Given the description of an element on the screen output the (x, y) to click on. 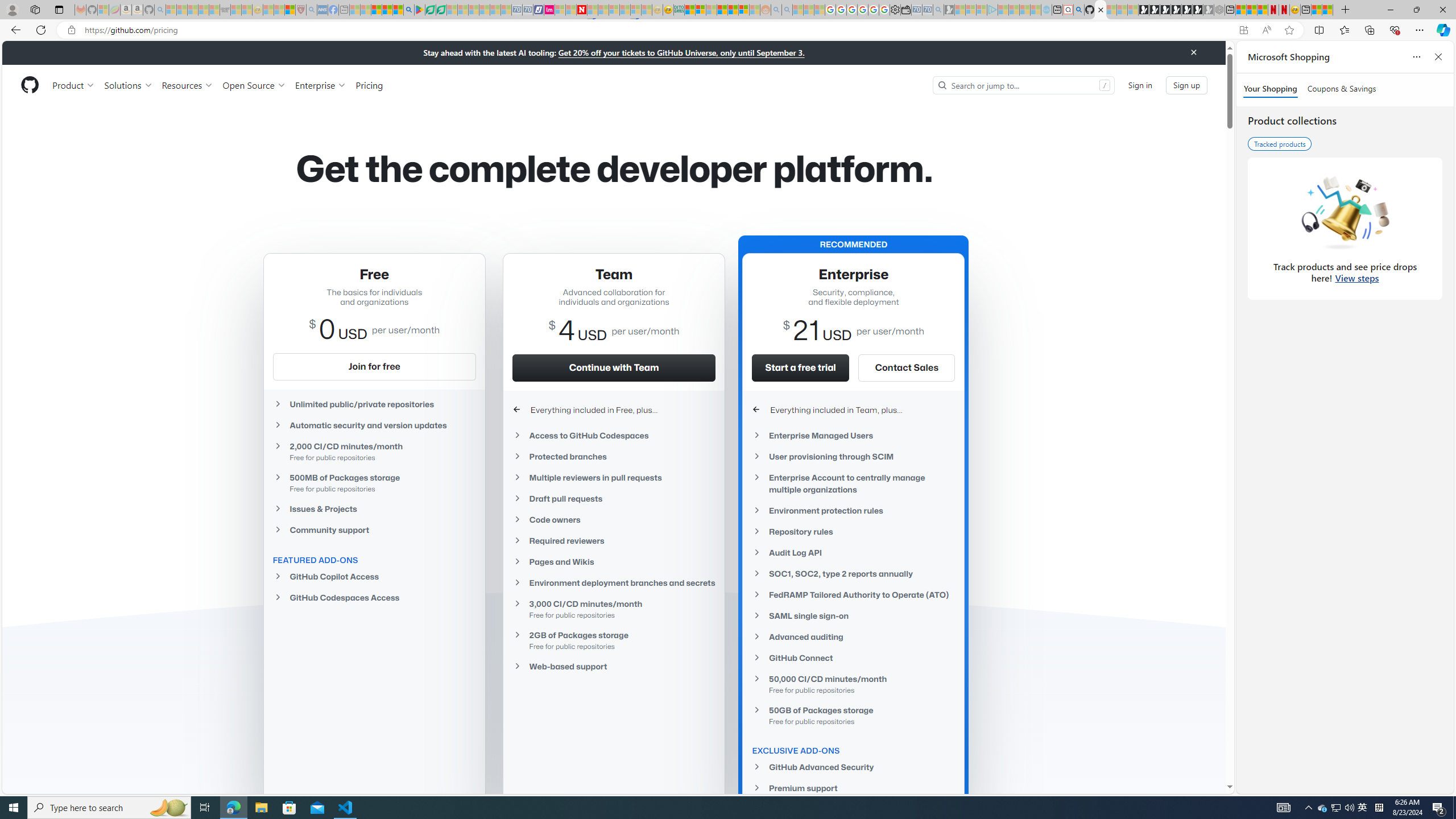
Automatic security and version updates (374, 425)
github - Search (1078, 9)
Draft pull requests (614, 498)
Solutions (128, 84)
Expert Portfolios (721, 9)
